Given the description of an element on the screen output the (x, y) to click on. 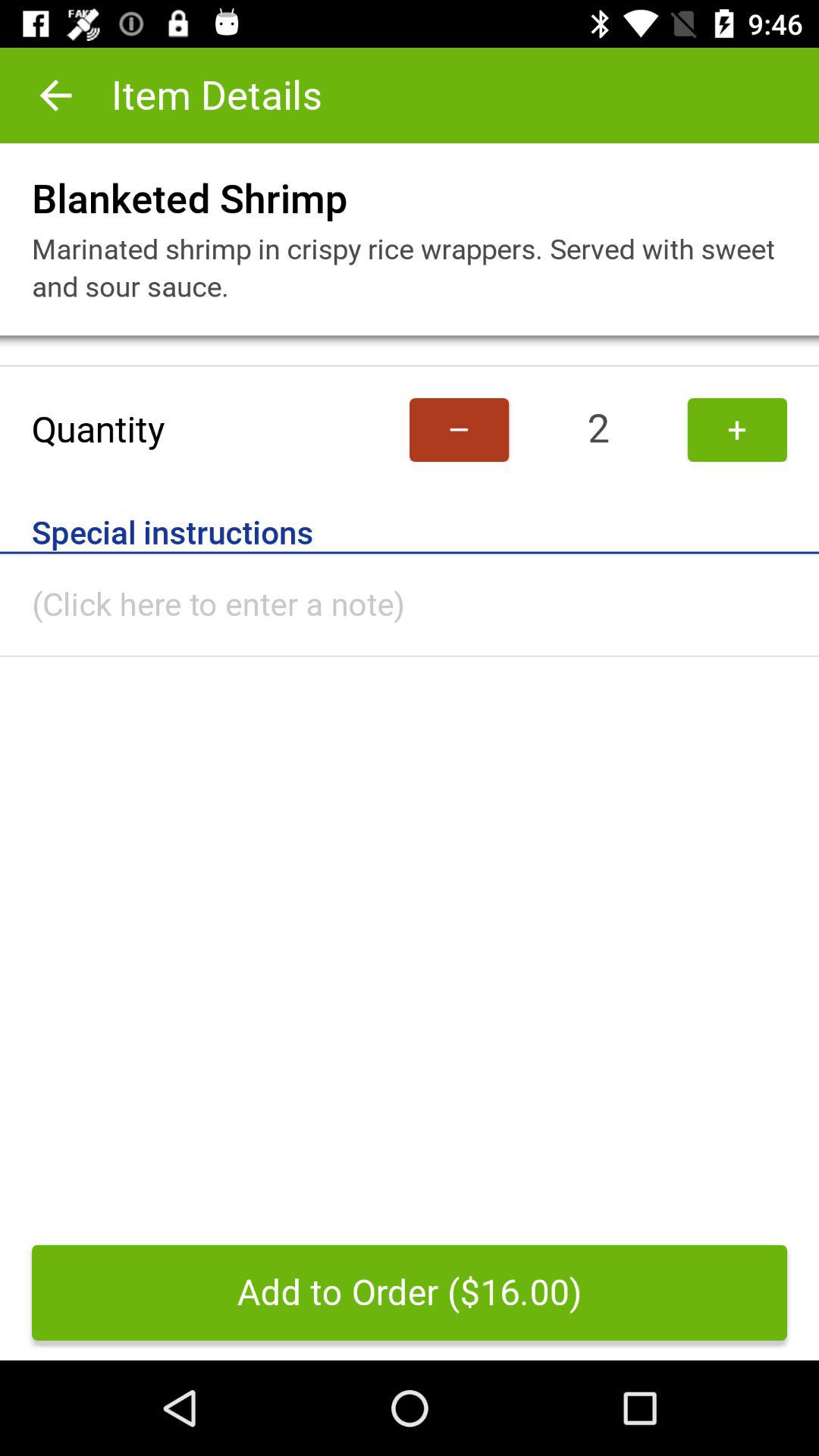
turn off the item next to the 2 (459, 429)
